Given the description of an element on the screen output the (x, y) to click on. 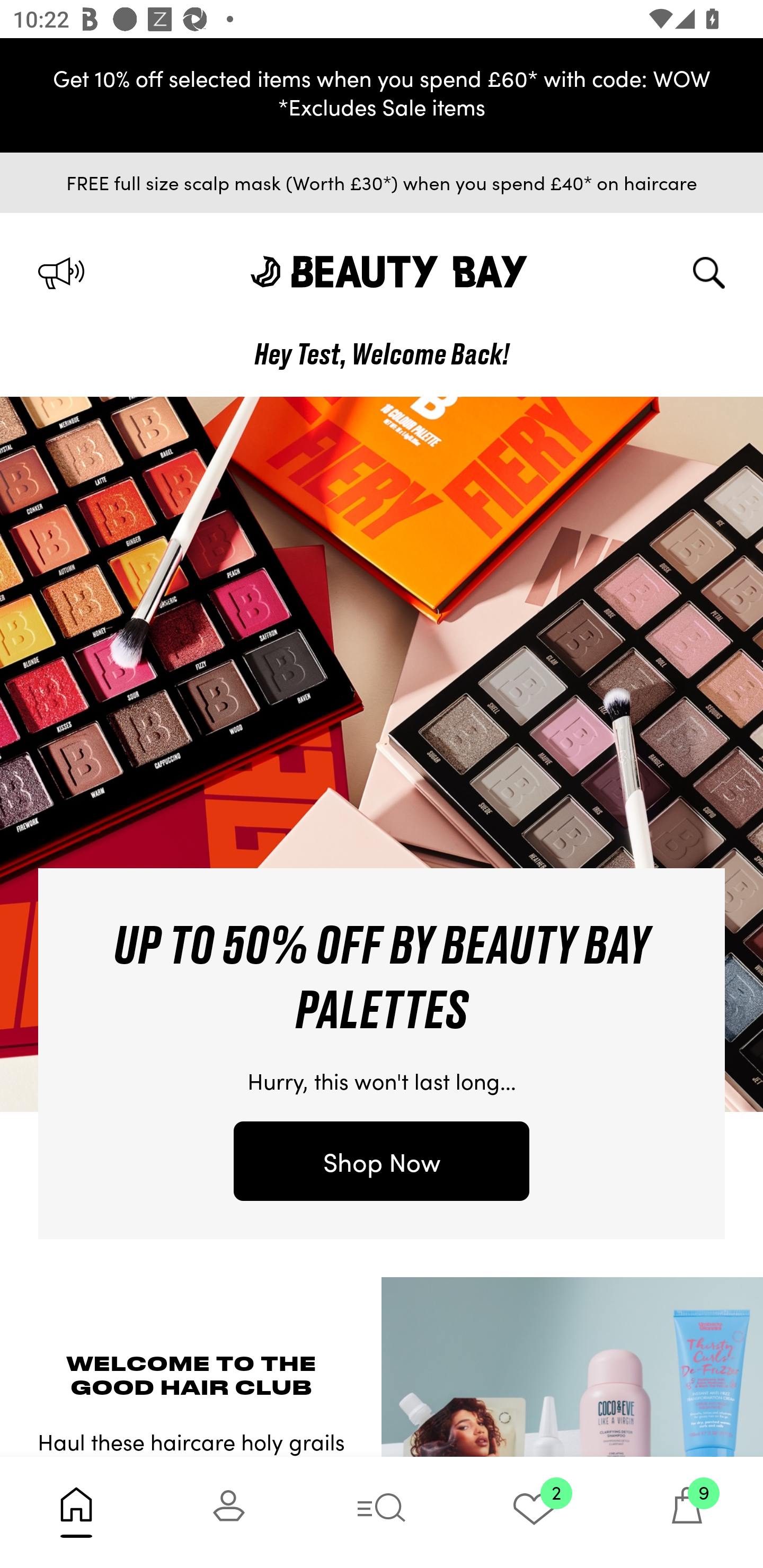
2 (533, 1512)
9 (686, 1512)
